Given the description of an element on the screen output the (x, y) to click on. 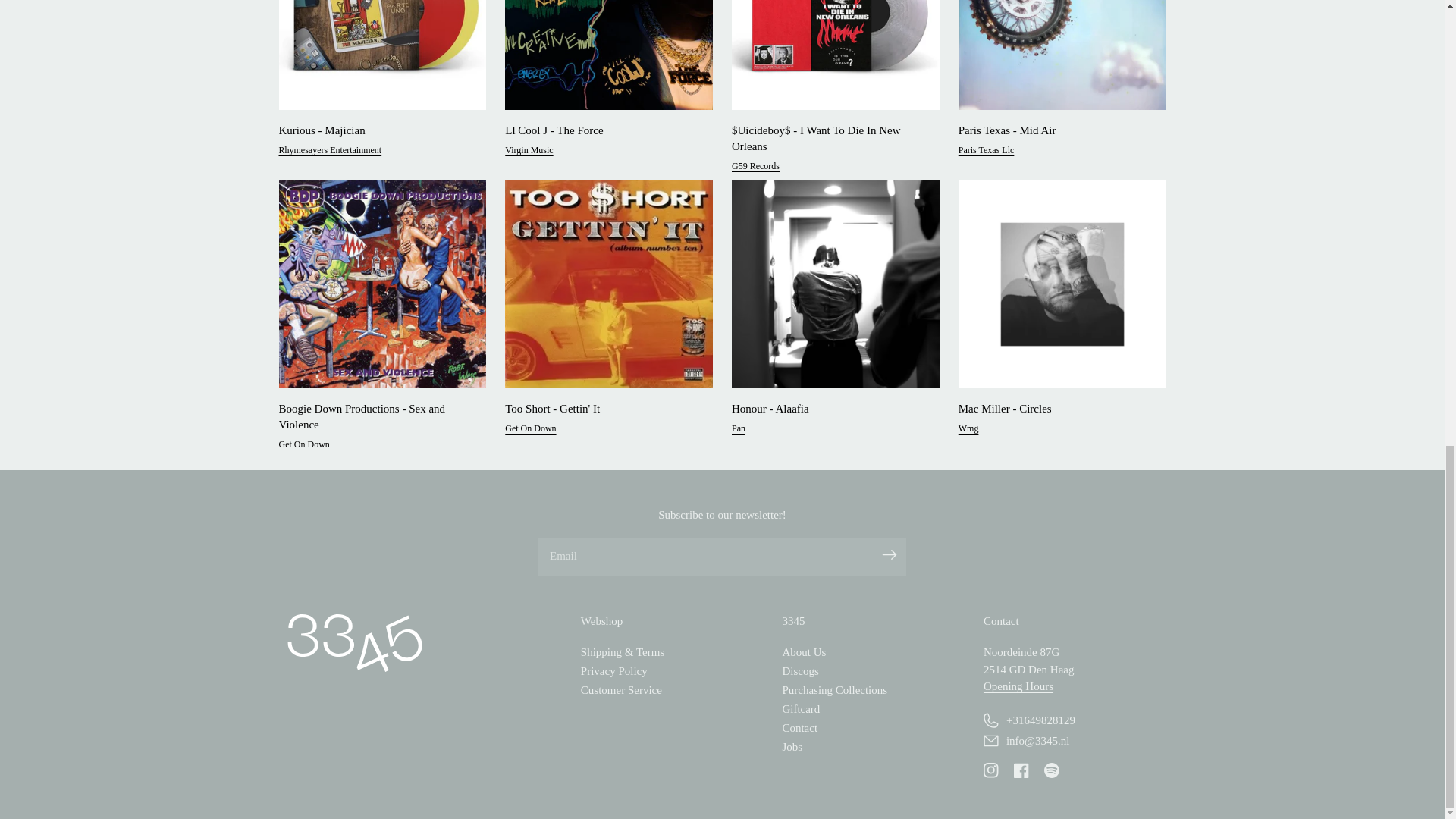
Ll Cool J - The Force (604, 130)
Opening hours (1018, 686)
Paris Texas Llc (986, 154)
Rhymesayers Entertainment (330, 154)
Too Short - Gettin' It (604, 408)
Virgin Music (529, 154)
Boogie Down Productions - Sex and Violence (378, 417)
Kurious - Majician (378, 130)
Honour - Alaafia (831, 408)
Paris Texas - Mid Air (1057, 130)
